Given the description of an element on the screen output the (x, y) to click on. 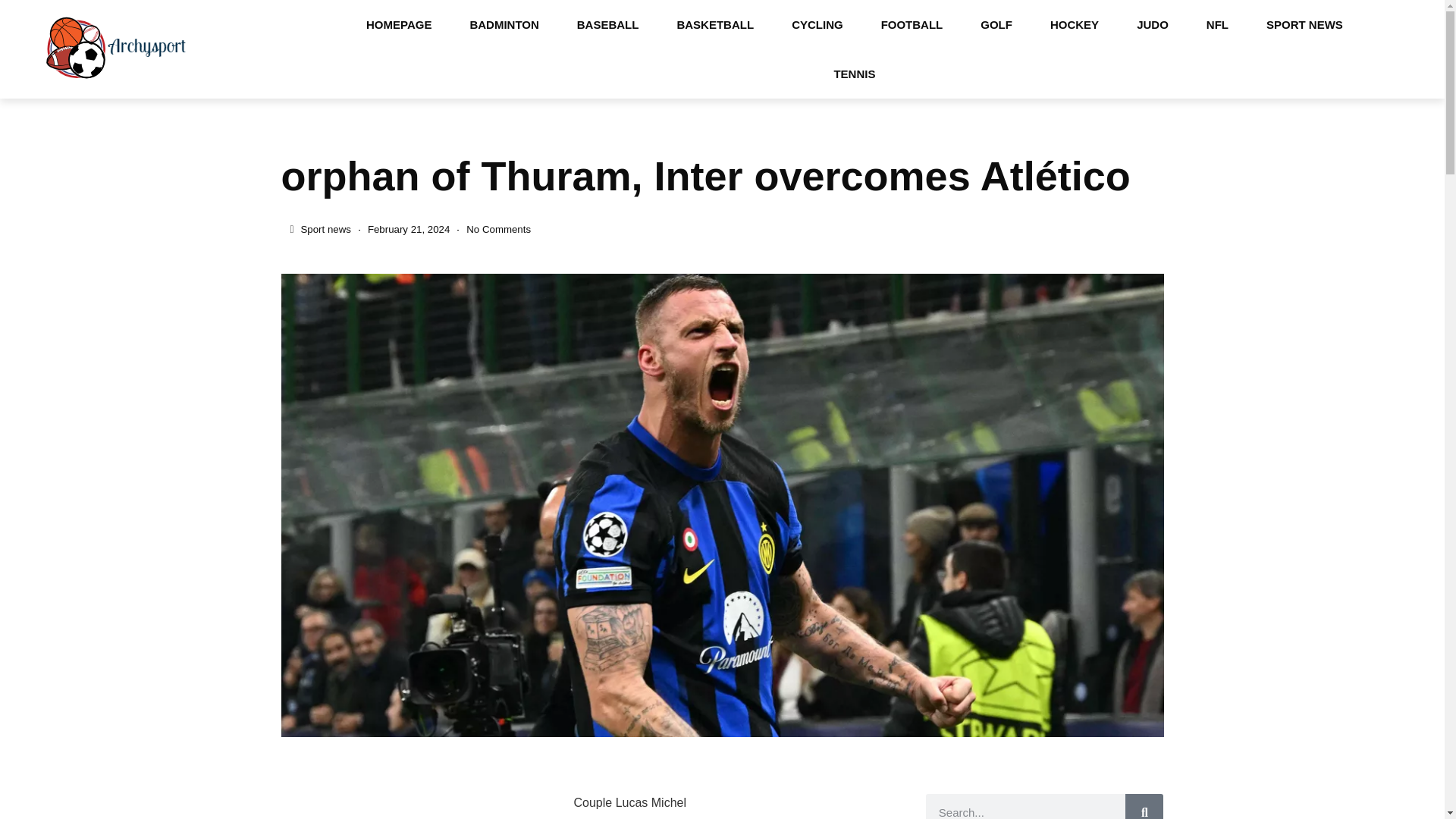
BASEBALL (607, 24)
HOMEPAGE (398, 24)
GOLF (995, 24)
BADMINTON (503, 24)
SPORT NEWS (1304, 24)
NFL (1217, 24)
TENNIS (853, 73)
BASKETBALL (715, 24)
CYCLING (817, 24)
HOCKEY (1074, 24)
FOOTBALL (911, 24)
JUDO (1153, 24)
